Given the description of an element on the screen output the (x, y) to click on. 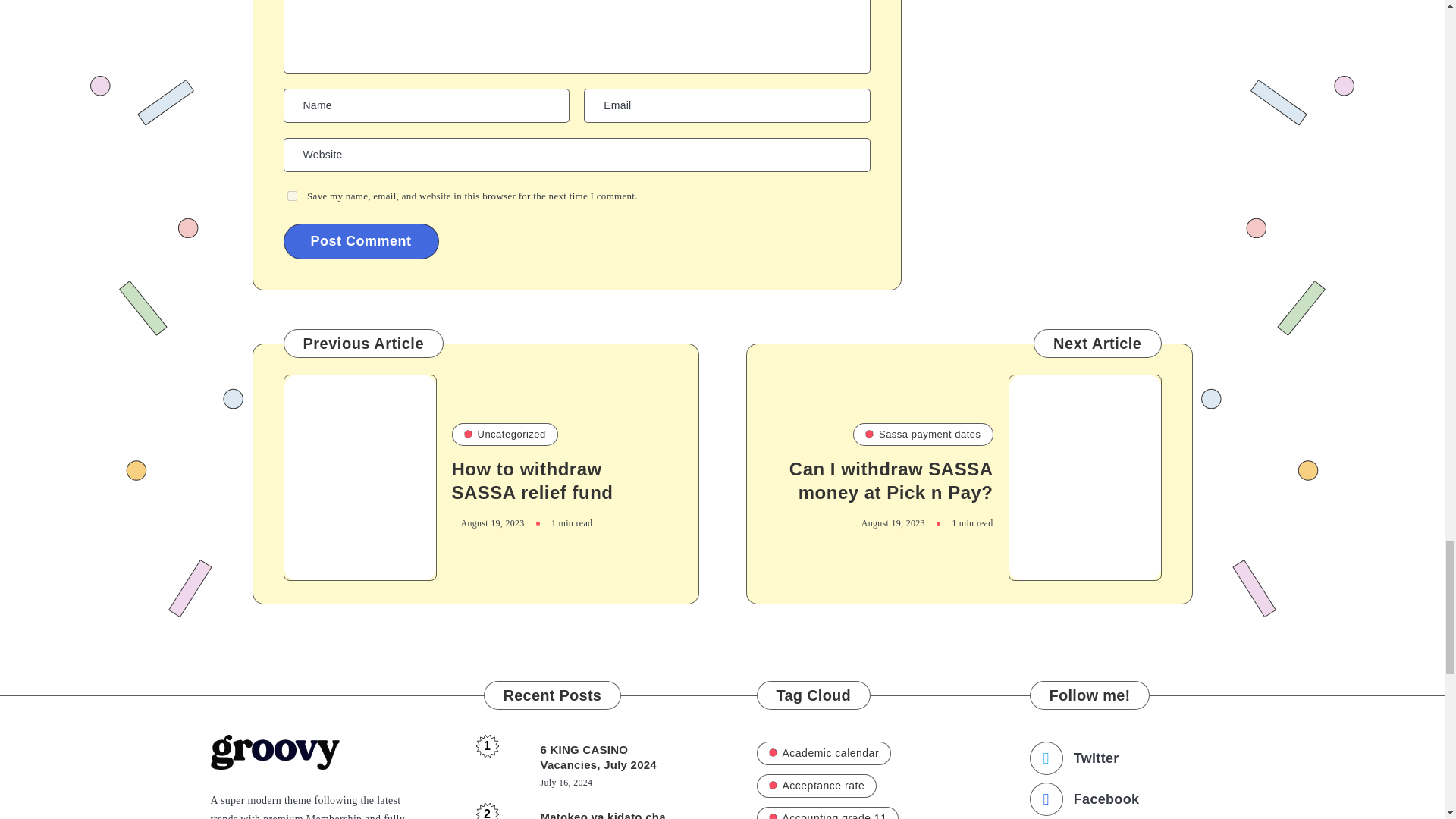
Post Comment (361, 241)
yes (291, 195)
